Given the description of an element on the screen output the (x, y) to click on. 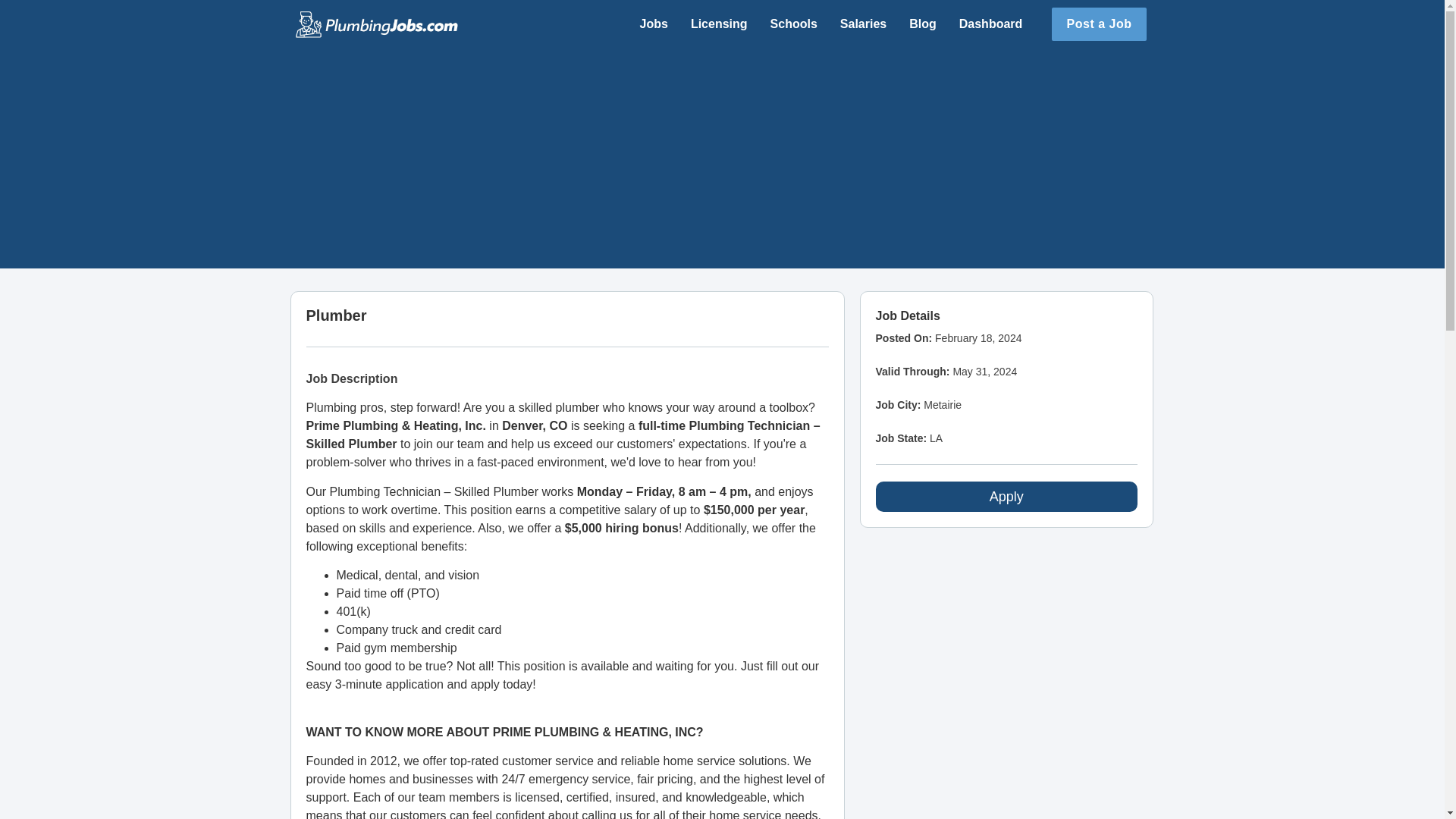
Jobs (654, 24)
Post a Job (1099, 23)
Dashboard (991, 24)
Salaries (863, 24)
Schools (793, 24)
Blog (922, 24)
Apply (1006, 496)
Licensing (719, 24)
